Given the description of an element on the screen output the (x, y) to click on. 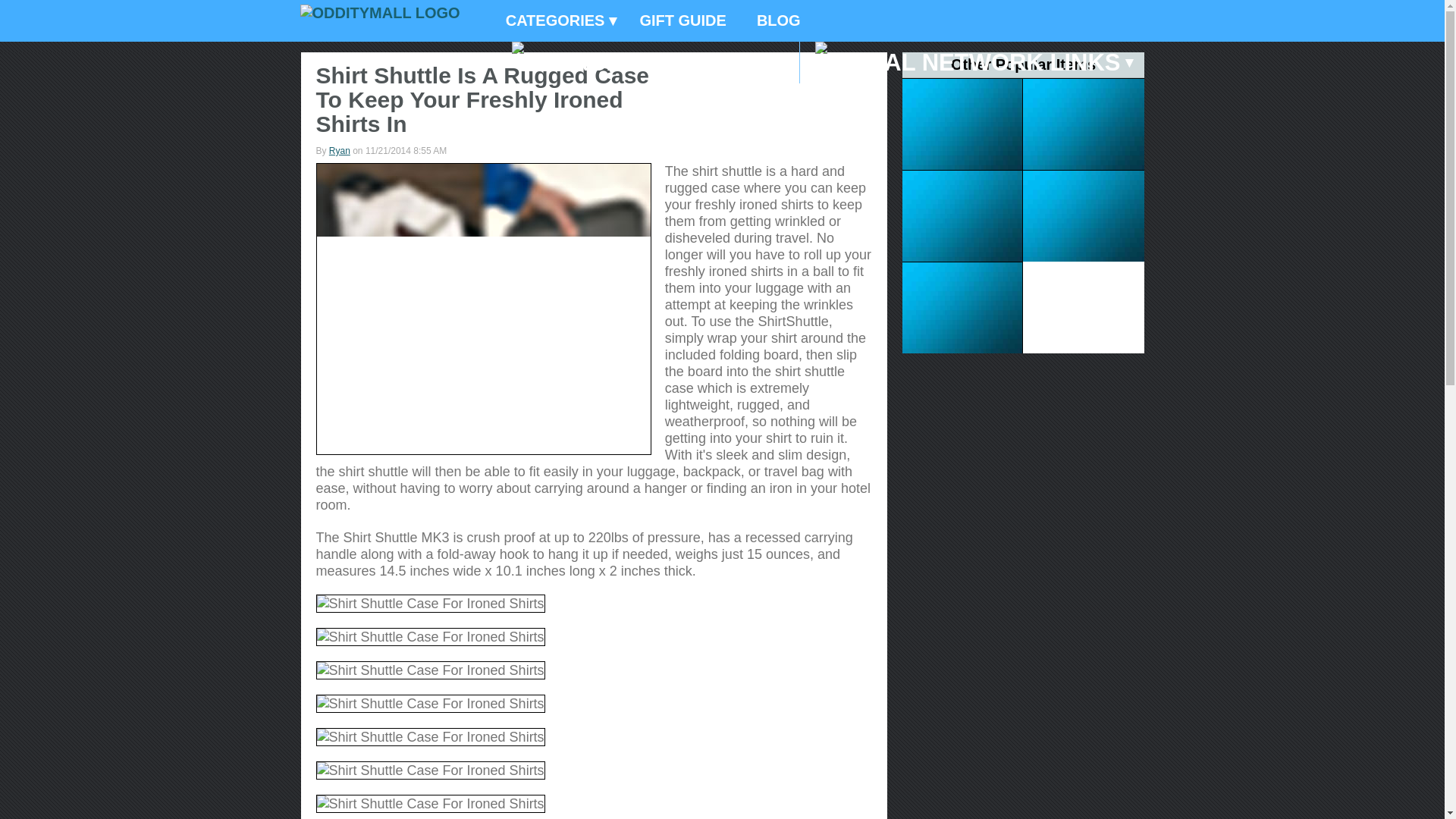
Unique Gifts - Unusual Gift Ideas (379, 12)
GIFT GUIDE (682, 20)
CATEGORIES (557, 20)
BLOG (778, 20)
Ryan (339, 150)
